Given the description of an element on the screen output the (x, y) to click on. 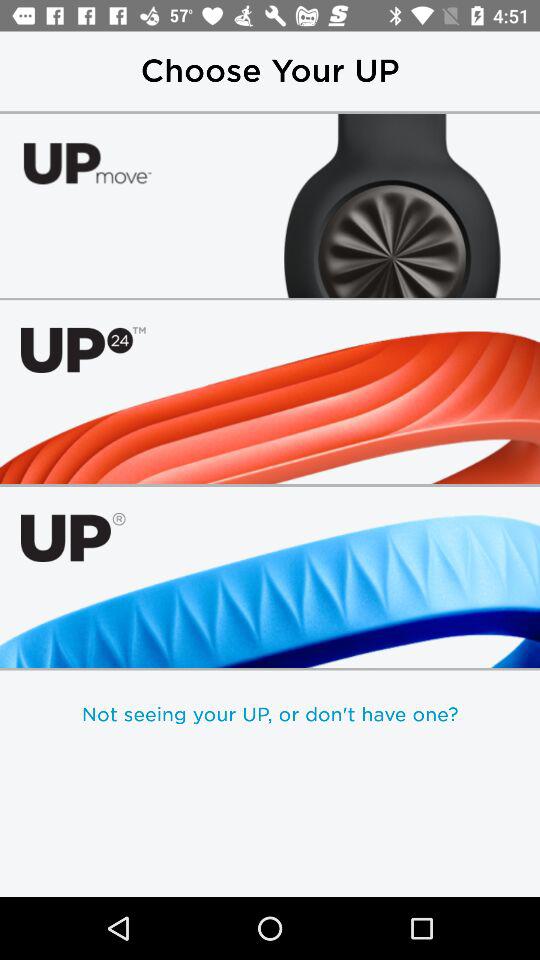
turn on the not seeing your icon (270, 713)
